Given the description of an element on the screen output the (x, y) to click on. 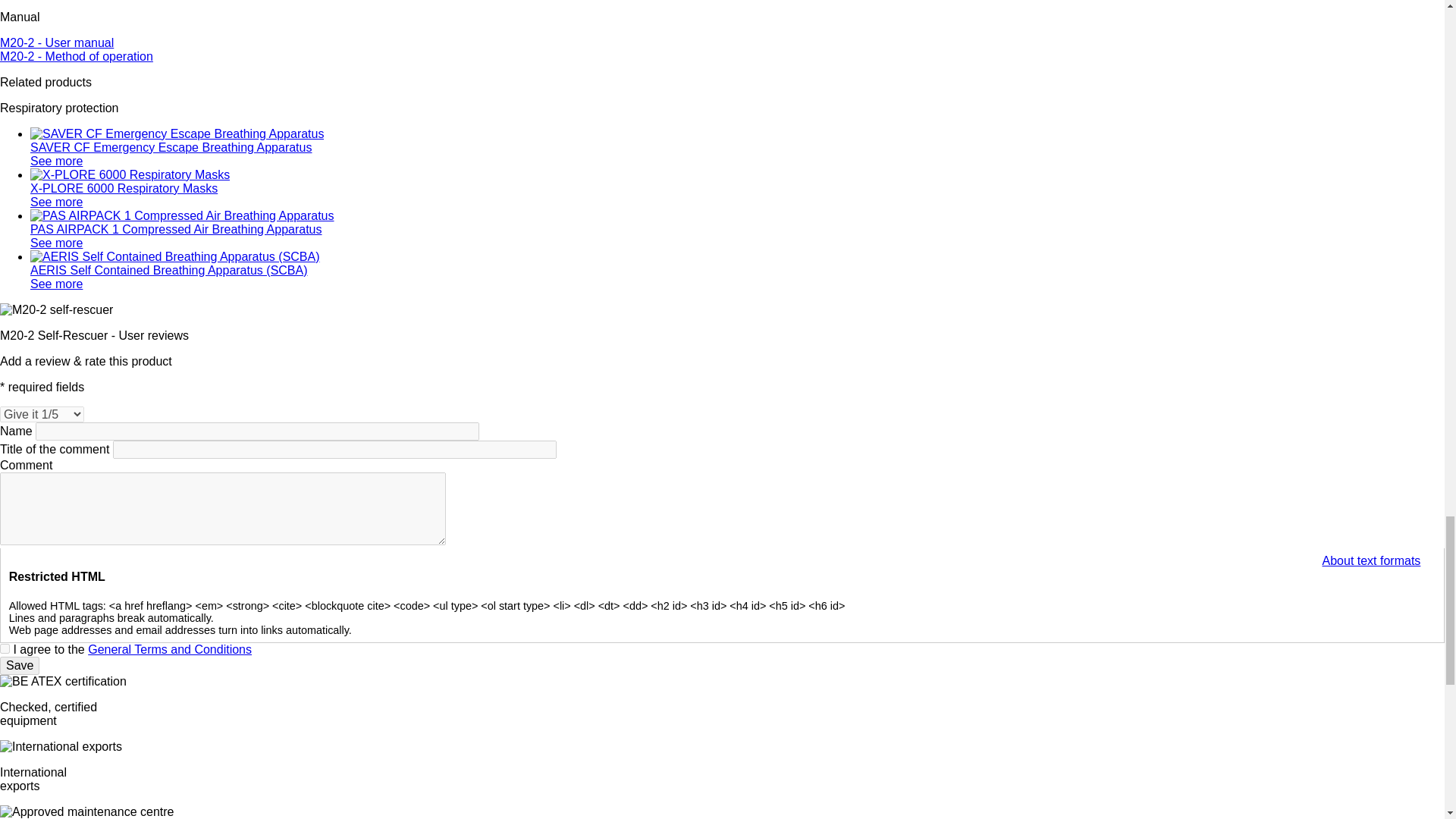
PAS AIRPACK 1 Compressed Air Breathing Apparatus (182, 215)
International exports (61, 746)
BE ATEX certification (63, 681)
Save (19, 665)
SAVER CF Emergency Escape Breathing Apparatus (176, 133)
X-PLORE 6000 Respiratory Masks (130, 174)
1 (5, 648)
M20-2 - User Guide.pdf (76, 56)
